Given the description of an element on the screen output the (x, y) to click on. 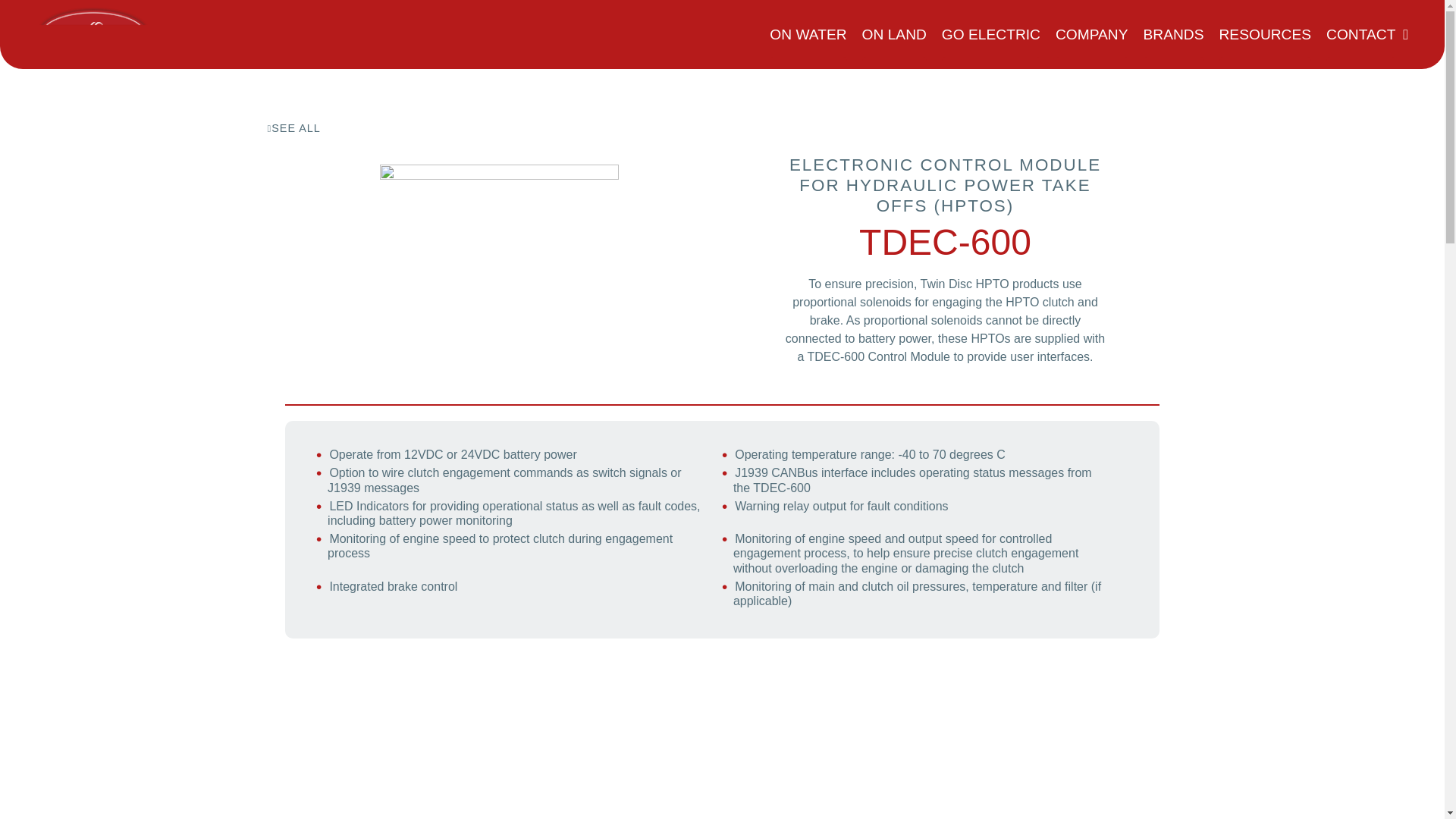
Twin Disc Logo (92, 34)
ON LAND (893, 33)
ON WATER (807, 33)
